Given the description of an element on the screen output the (x, y) to click on. 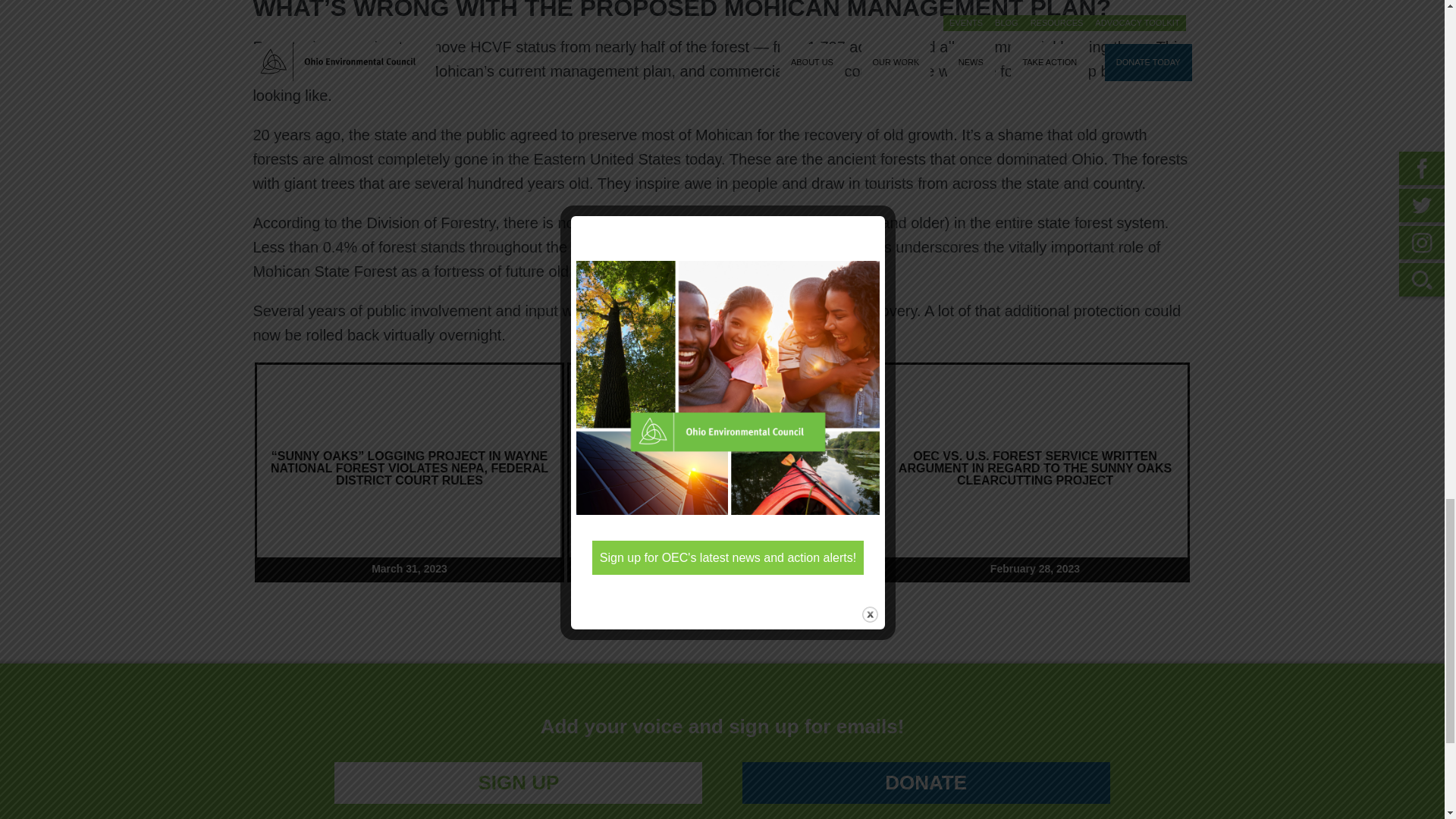
SIGN UP (517, 781)
SIGN UP (517, 782)
DONATE (924, 781)
